Given the description of an element on the screen output the (x, y) to click on. 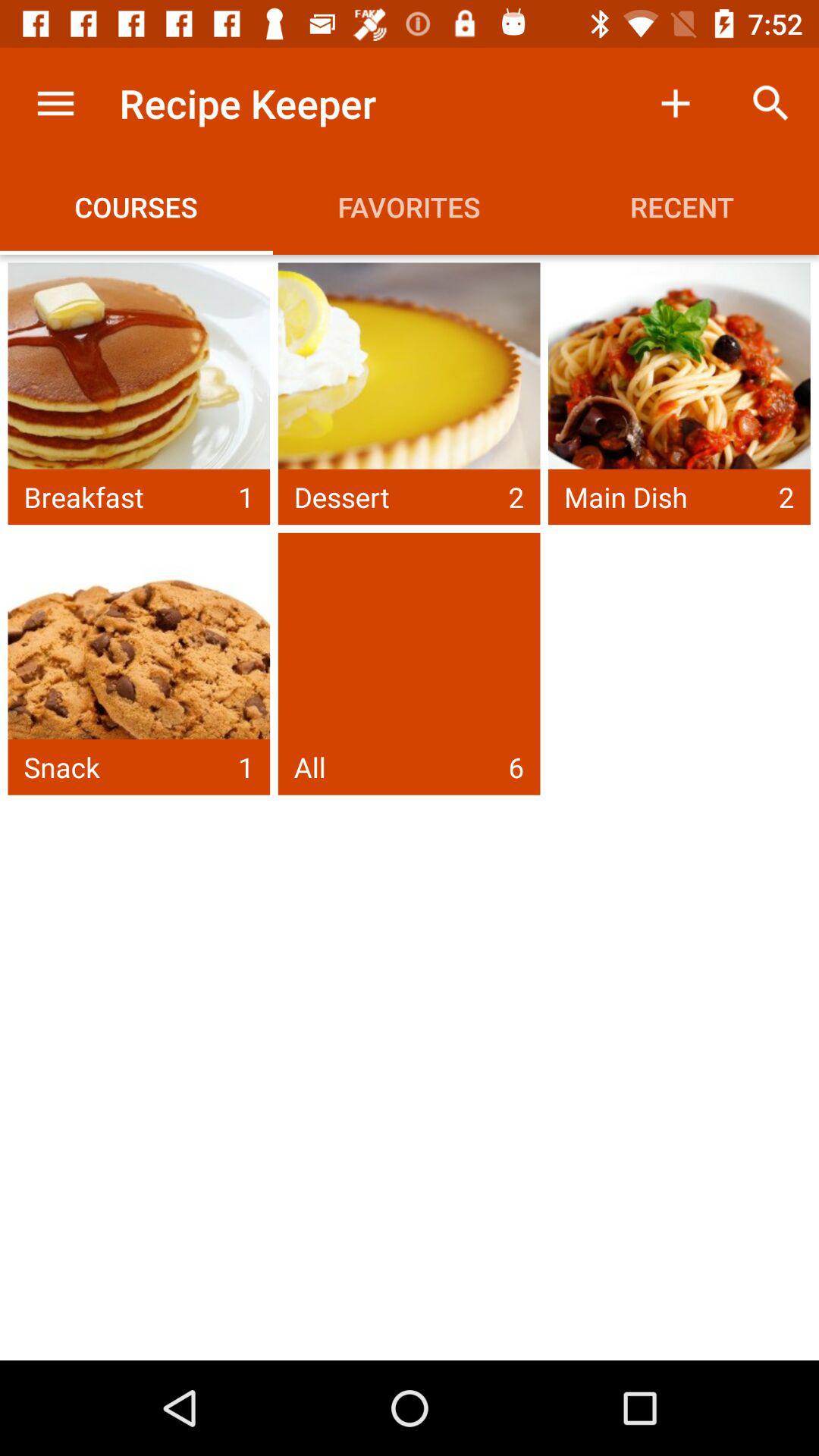
turn on the icon above recent item (675, 103)
